Given the description of an element on the screen output the (x, y) to click on. 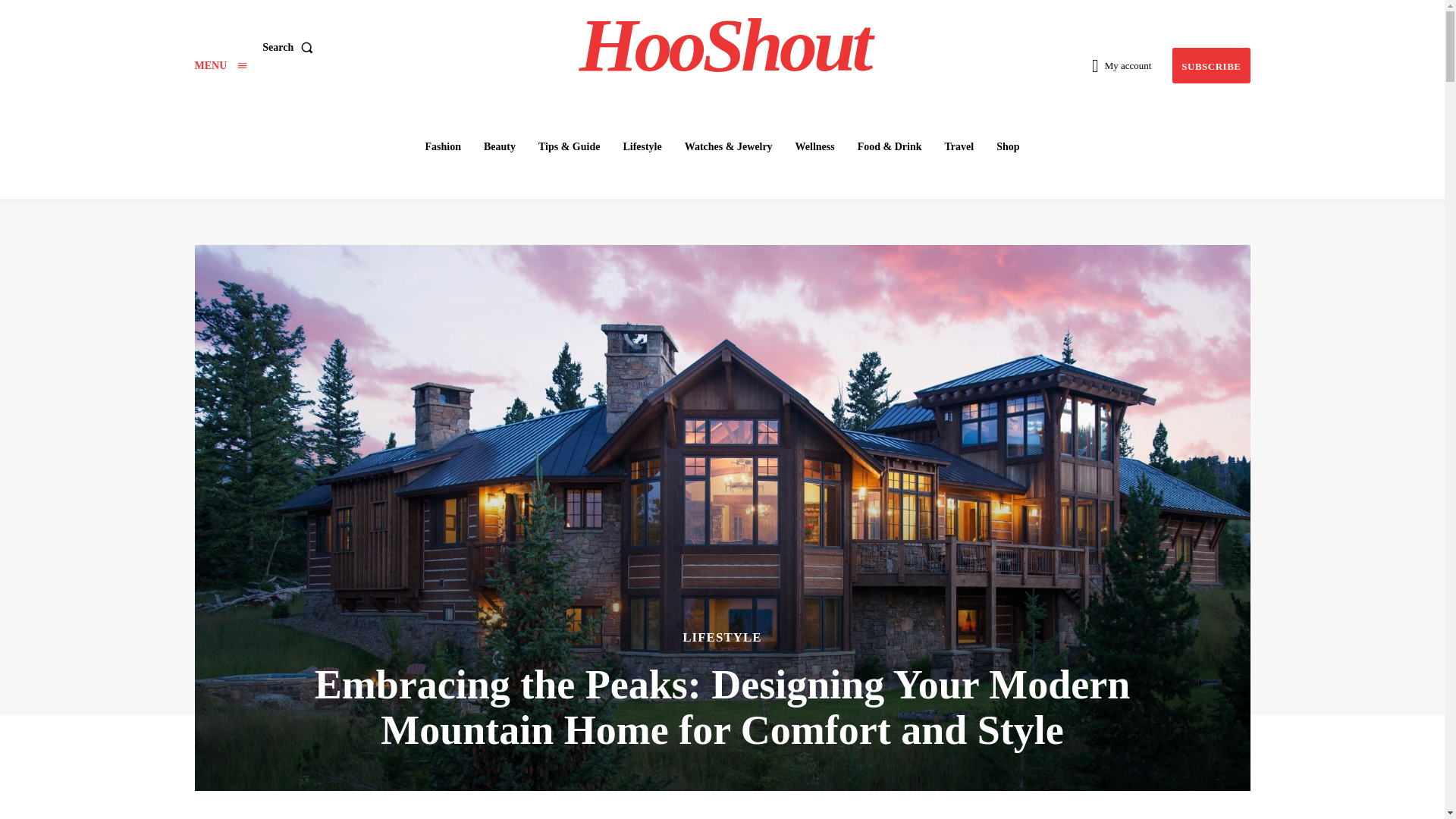
Beauty (499, 146)
Fashion (441, 146)
Menu (220, 65)
Subscribe (1210, 65)
Wellness (815, 146)
SUBSCRIBE (1210, 65)
Search (290, 47)
Lifestyle (641, 146)
MENU (220, 65)
HooShout (724, 45)
